Given the description of an element on the screen output the (x, y) to click on. 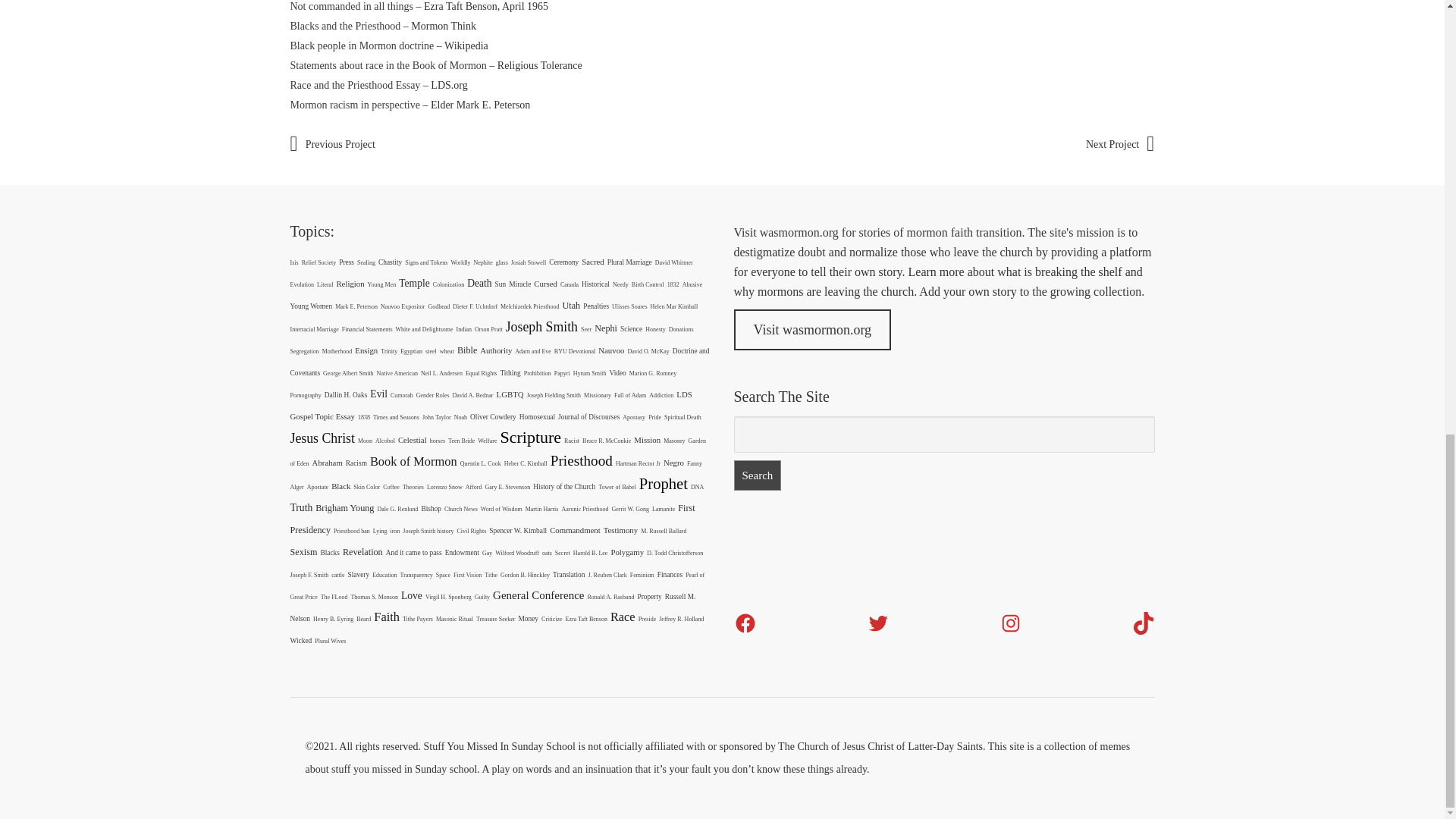
Race and the Priesthood Essay (354, 84)
8 topics (293, 262)
3 topics (425, 262)
16 topics (301, 284)
20 topics (563, 262)
Previous Project (331, 143)
glass (502, 262)
5 topics (459, 262)
Signs and Tokens (425, 262)
23 topics (629, 262)
5 topics (318, 262)
Black people in Mormon doctrine (361, 45)
Nephite (482, 262)
3 topics (482, 262)
Statements about race in the Book of Mormon (387, 65)
